Given the description of an element on the screen output the (x, y) to click on. 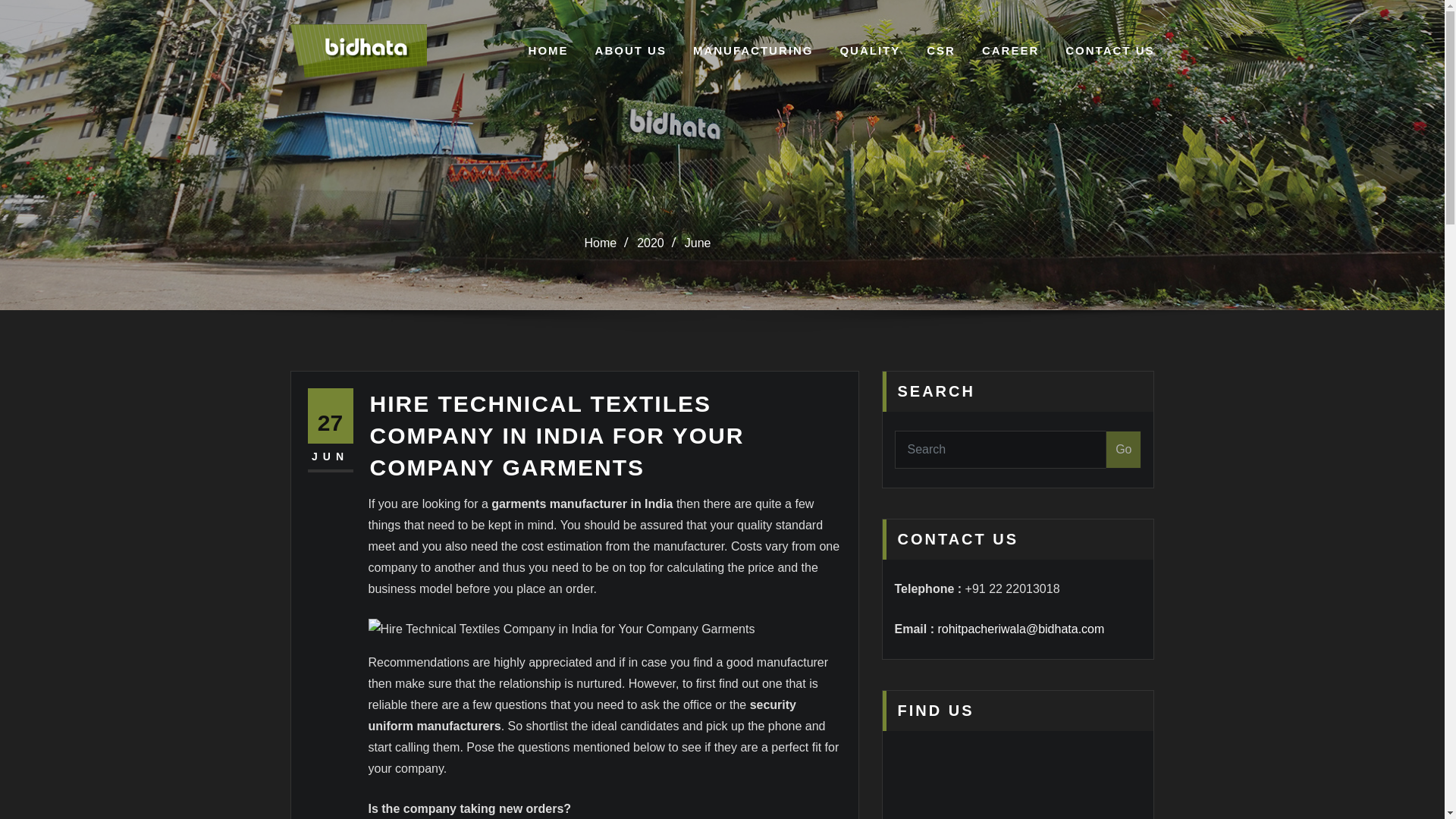
QUALITY (869, 50)
MANUFACTURING (753, 50)
ABOUT US (630, 50)
CONTACT US (1109, 50)
Home (599, 242)
CAREER (1010, 50)
2020 (650, 242)
CSR (940, 50)
Go (1123, 449)
June (697, 242)
HOME (548, 50)
